Given the description of an element on the screen output the (x, y) to click on. 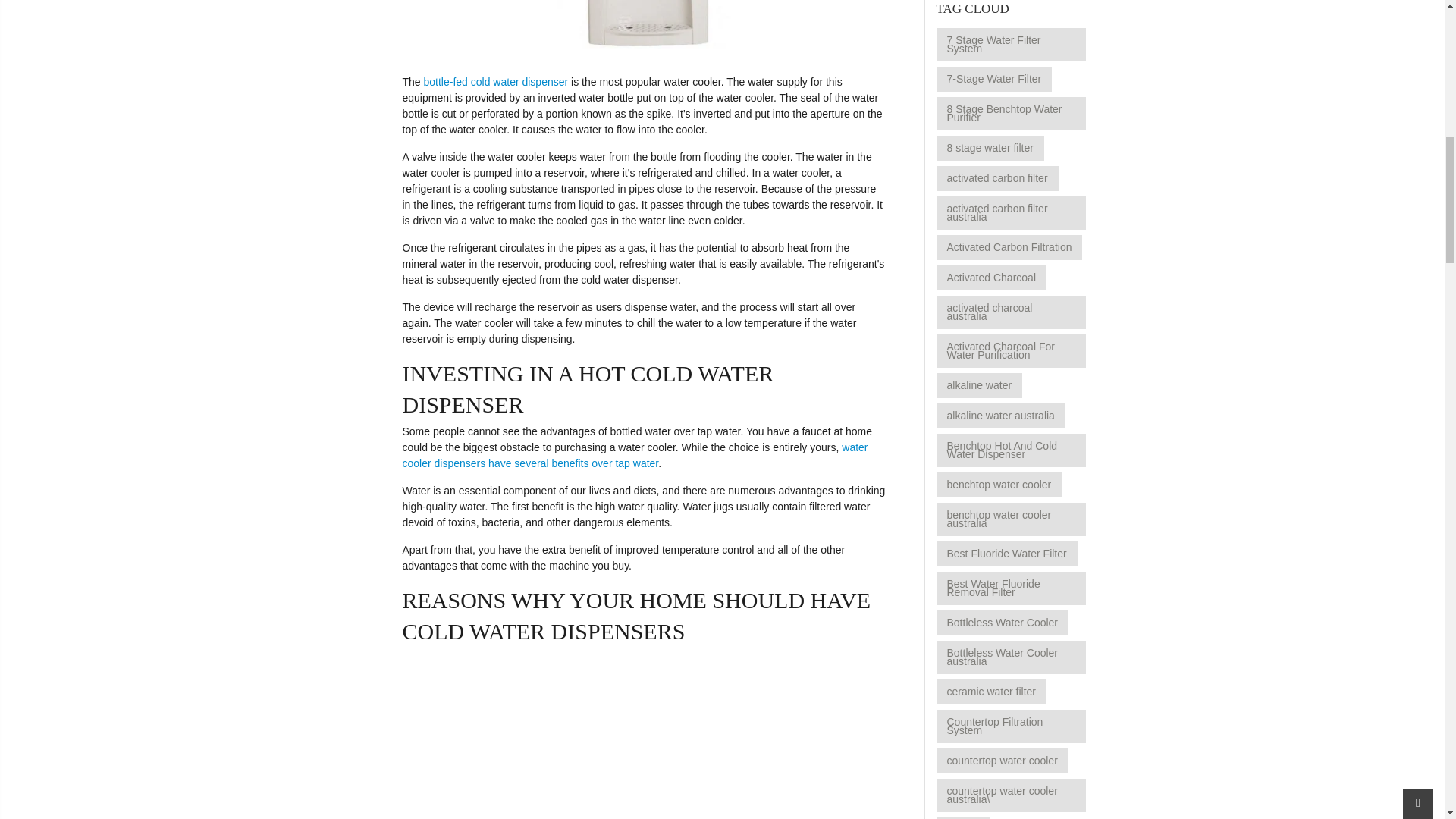
Show articles tagged activated carbon filter australia (1010, 213)
Show articles tagged Activated Charcoal (991, 277)
Show articles tagged 7-Stage Water Filter (993, 78)
Show articles tagged activated charcoal australia (1010, 312)
Show articles tagged alkaline water (979, 385)
Show articles tagged 7 Stage Water Filter System (1010, 44)
Show articles tagged Activated Carbon Filtration (1008, 247)
Show articles tagged alkaline water australia (1000, 415)
Show articles tagged activated carbon filter (997, 178)
